Given the description of an element on the screen output the (x, y) to click on. 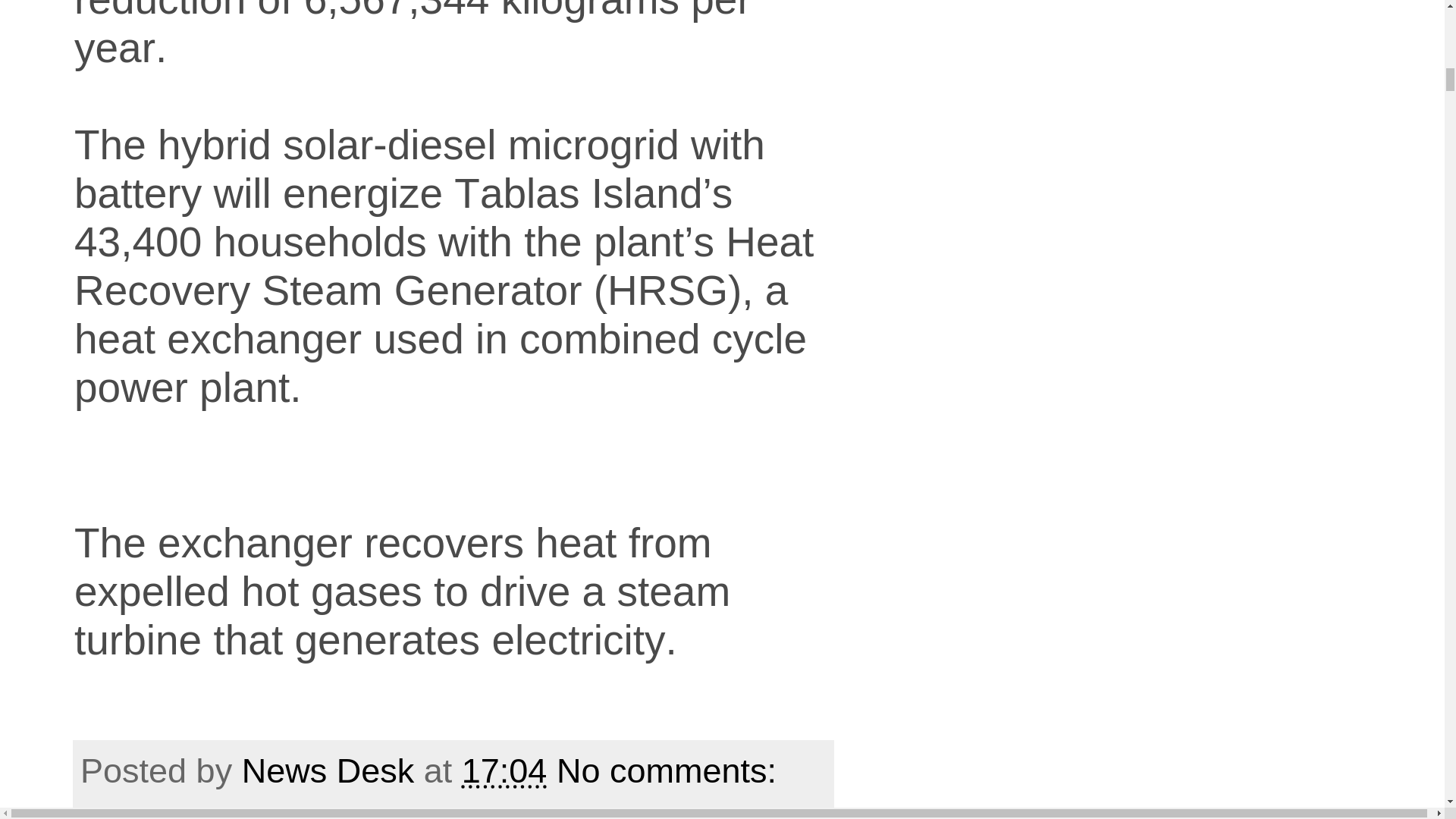
Email This (159, 812)
17:04 (504, 770)
BlogThis! (309, 812)
Share to Facebook (414, 812)
BlogThis! (309, 812)
Share to Twitter (500, 812)
News Desk (332, 770)
Share to Twitter (500, 812)
Email Post (797, 770)
Share to Facebook (414, 812)
No comments: (671, 770)
author profile (332, 770)
Edit Post (815, 770)
Email This (159, 812)
permanent link (504, 770)
